Given the description of an element on the screen output the (x, y) to click on. 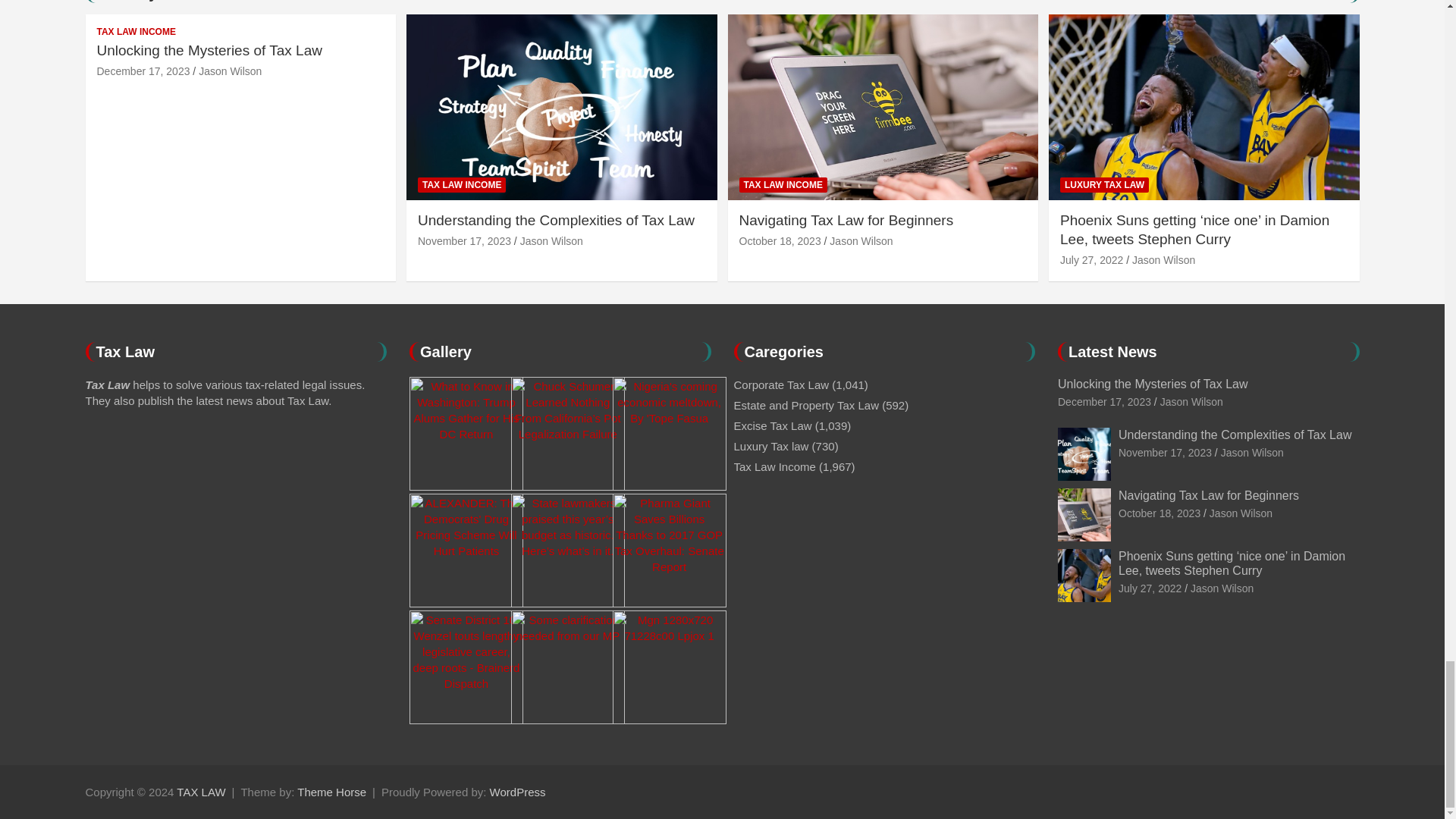
Understanding the Complexities of Tax Law (1164, 452)
Unlocking the Mysteries of Tax Law (1104, 401)
Theme Horse (331, 791)
Navigating Tax Law for Beginners (1158, 512)
Understanding the Complexities of Tax Law (464, 241)
Unlocking the Mysteries of Tax Law (143, 70)
Navigating Tax Law for Beginners (779, 241)
TAX LAW (200, 791)
WordPress (517, 791)
